Given the description of an element on the screen output the (x, y) to click on. 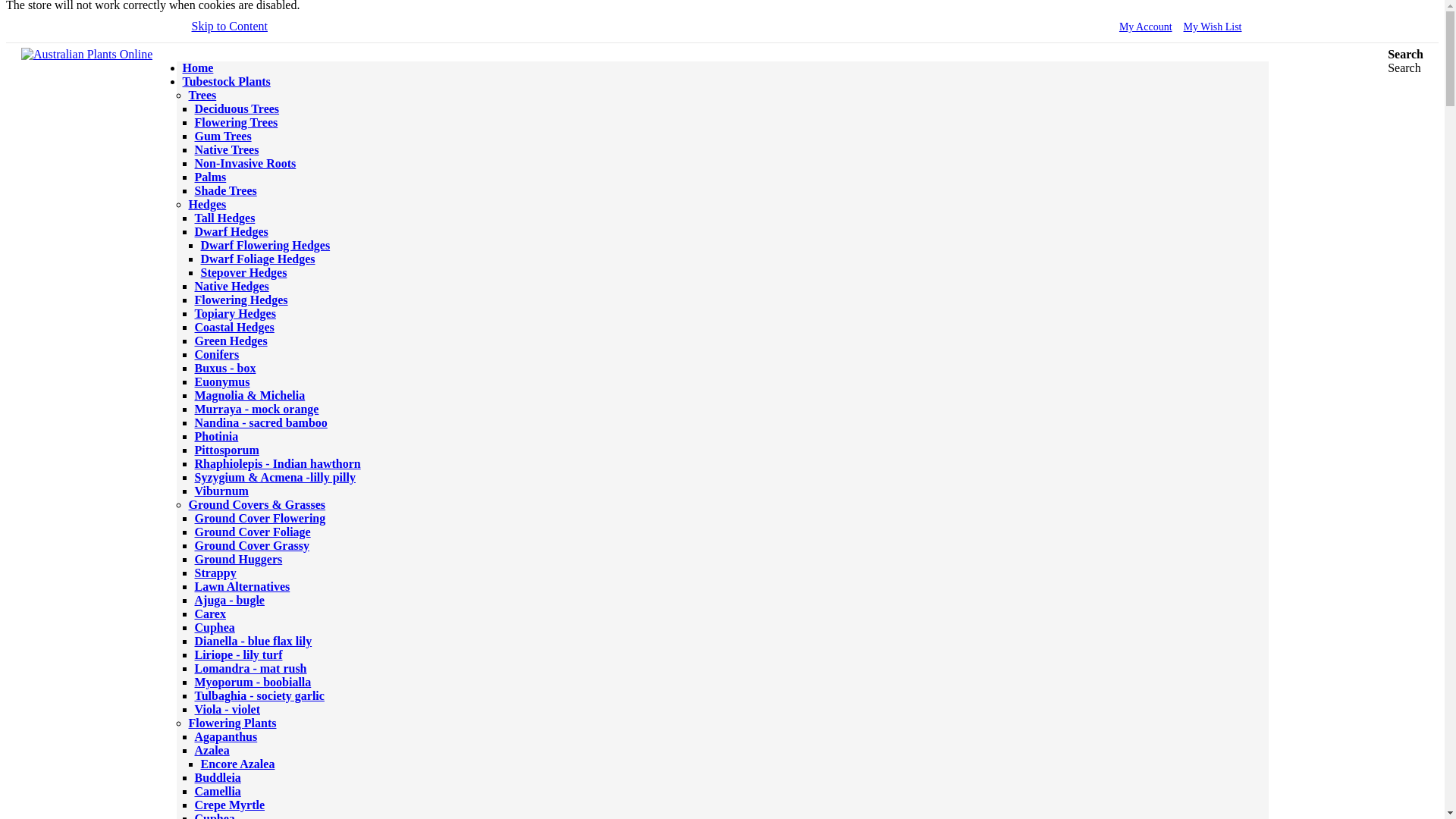
Tall Hedges (223, 217)
Flowering Hedges (239, 299)
Rhaphiolepis - Indian hawthorn (276, 463)
Viburnum (220, 490)
Dwarf Hedges  (230, 231)
Stepover Hedges (243, 272)
My Wish List (1212, 26)
Coastal Hedges (233, 327)
Gum Trees (221, 135)
Hedges (206, 204)
